Given the description of an element on the screen output the (x, y) to click on. 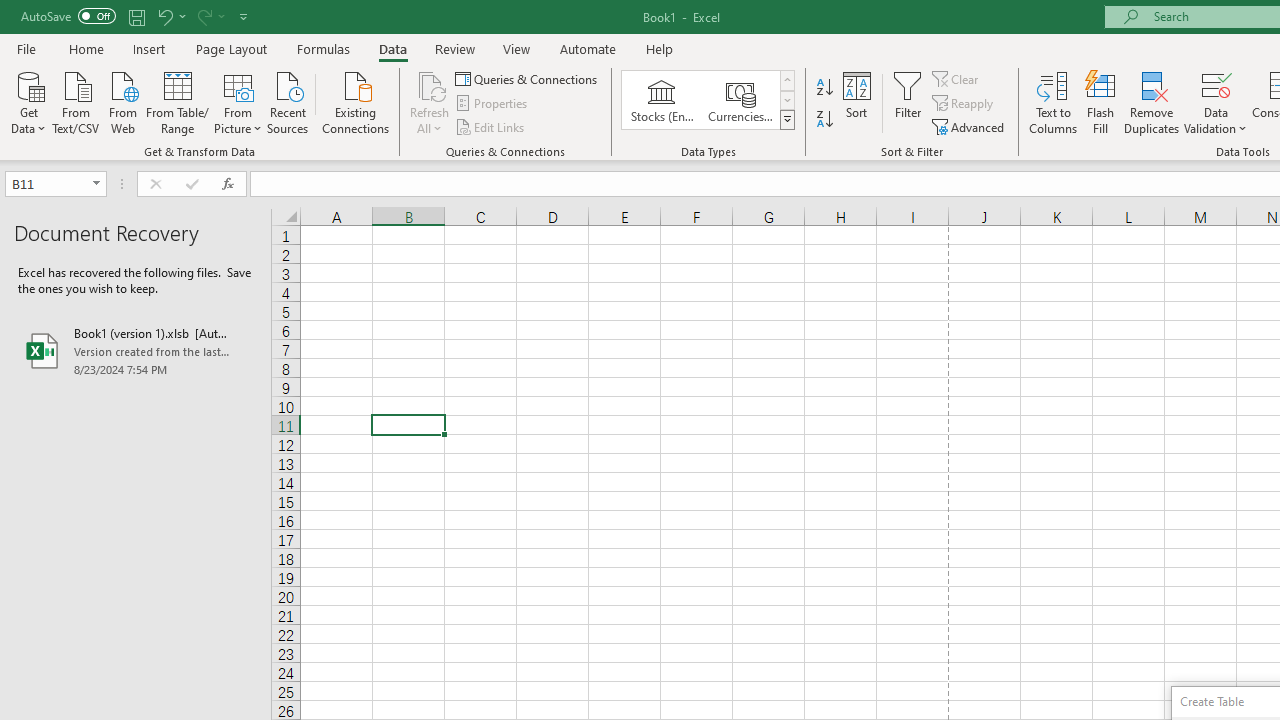
From Web (122, 101)
Data Validation... (1215, 84)
Queries & Connections (527, 78)
Currencies (English) (740, 100)
File Tab (26, 48)
System (10, 11)
Sort Z to A (824, 119)
Data Types (786, 120)
Flash Fill (1101, 102)
Recent Sources (287, 101)
Stocks (English) (662, 100)
From Picture (238, 101)
Refresh All (429, 84)
Sort... (856, 102)
Properties (492, 103)
